Given the description of an element on the screen output the (x, y) to click on. 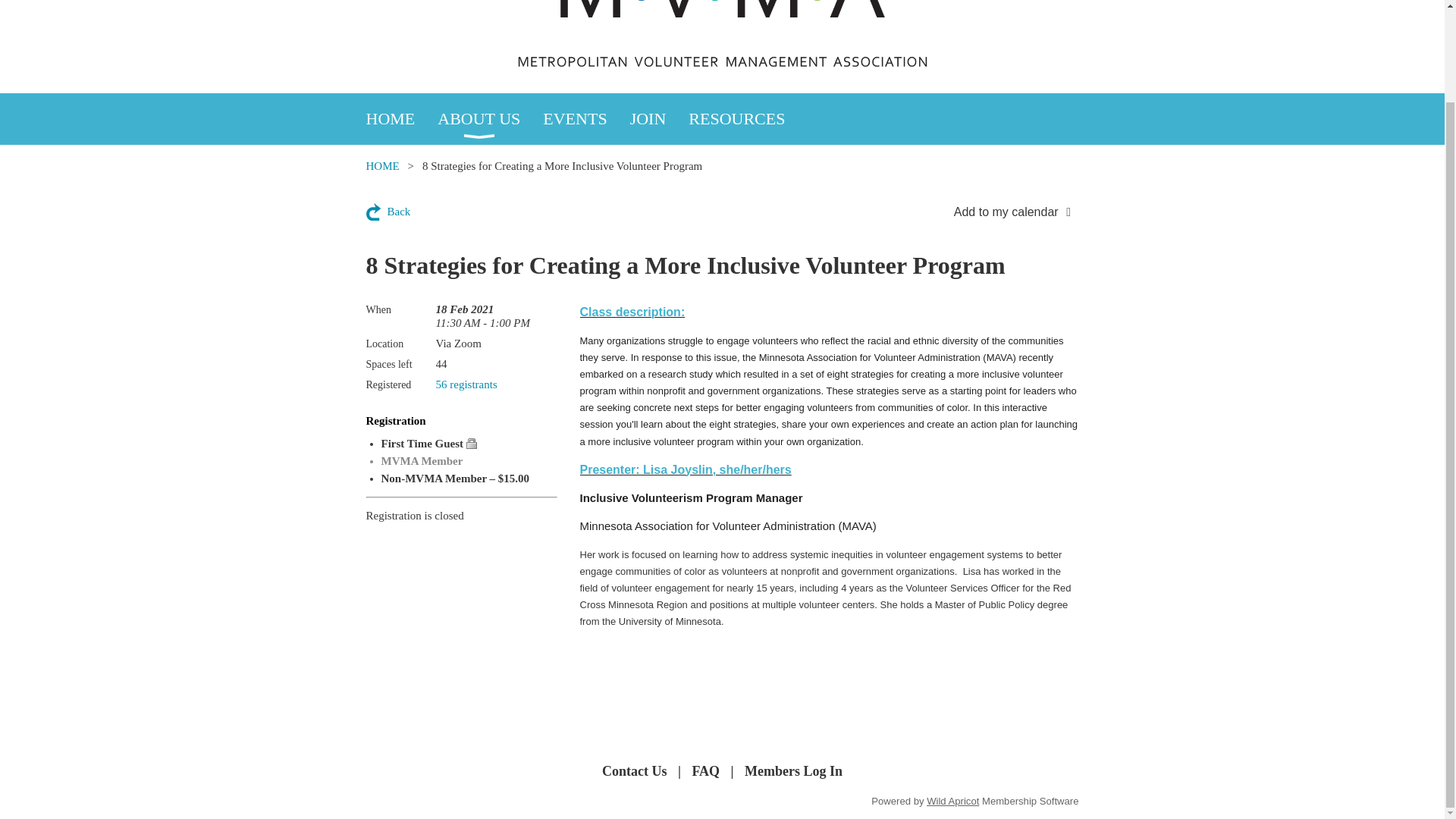
Wild Apricot (952, 800)
EVENTS (585, 118)
Contact Us (634, 771)
56 registrants (465, 384)
FAQ (705, 771)
HOME (401, 118)
EVENTS (585, 118)
Back (387, 211)
ABOUT US (490, 118)
HOME (401, 118)
JOIN (659, 118)
ABOUT US (490, 118)
HOME (381, 165)
Members Log In (793, 771)
Contact Us (634, 771)
